Given the description of an element on the screen output the (x, y) to click on. 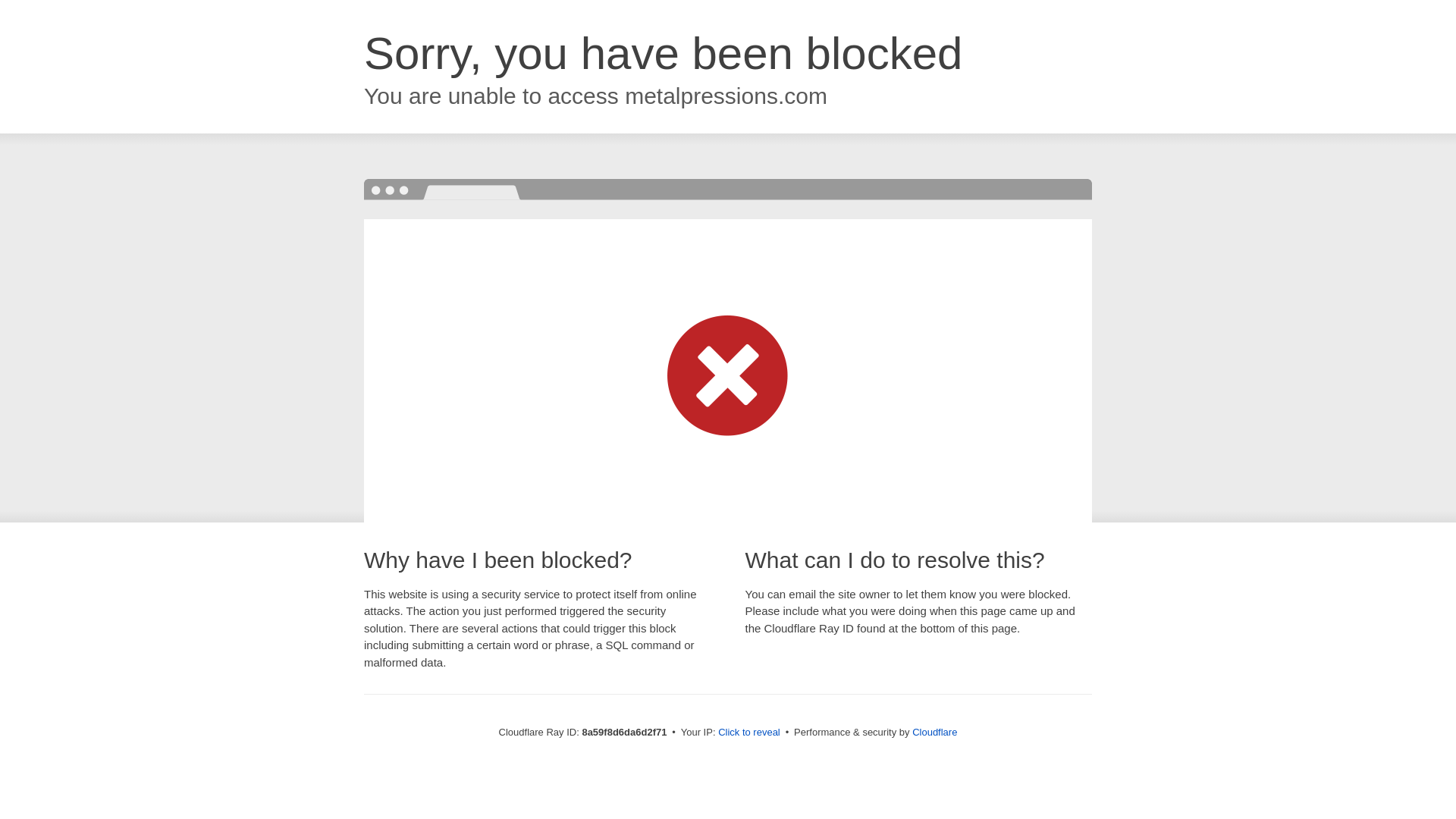
Click to reveal (748, 732)
Cloudflare (934, 731)
